Given the description of an element on the screen output the (x, y) to click on. 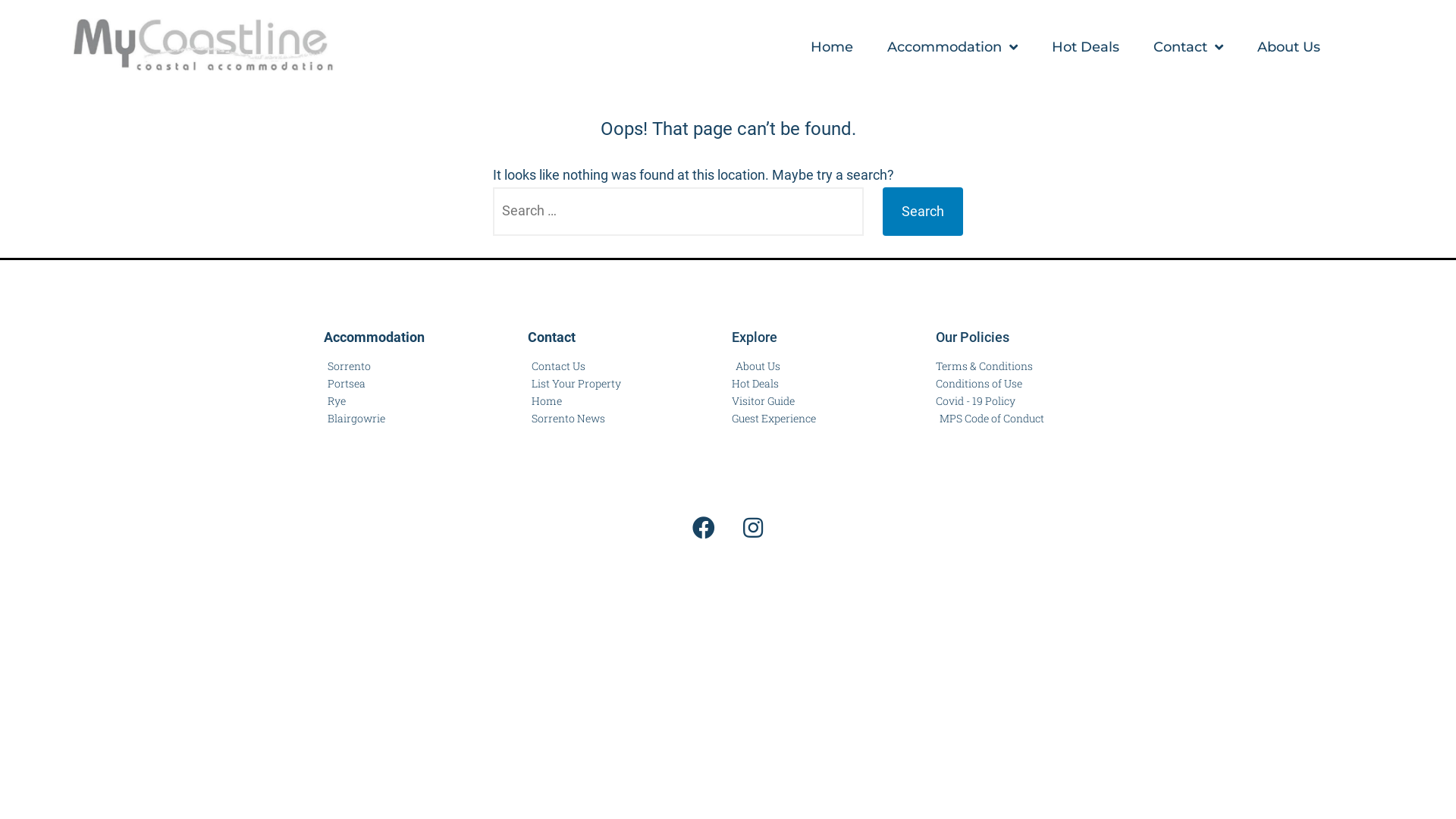
Home Element type: text (544, 400)
Home Element type: text (831, 47)
Search Element type: text (922, 211)
List Your Property Element type: text (574, 383)
Covid - 19 Policy Element type: text (975, 400)
Sorrento News Element type: text (566, 418)
Sorrento Element type: text (346, 366)
Guest Experience Element type: text (773, 418)
Hot Deals Element type: text (1085, 47)
About Us Element type: text (755, 366)
Accommodation Element type: text (952, 47)
Portsea Element type: text (344, 383)
Blairgowrie Element type: text (354, 418)
Contact Element type: text (1188, 47)
Conditions of Use Element type: text (978, 383)
Visitor Guide Element type: text (762, 400)
About Us Element type: text (1288, 47)
Hot Deals Element type: text (754, 383)
Terms & Conditions Element type: text (983, 366)
Contact Us Element type: text (556, 366)
MPS Code of Conduct Element type: text (989, 418)
Rye Element type: text (334, 400)
